Given the description of an element on the screen output the (x, y) to click on. 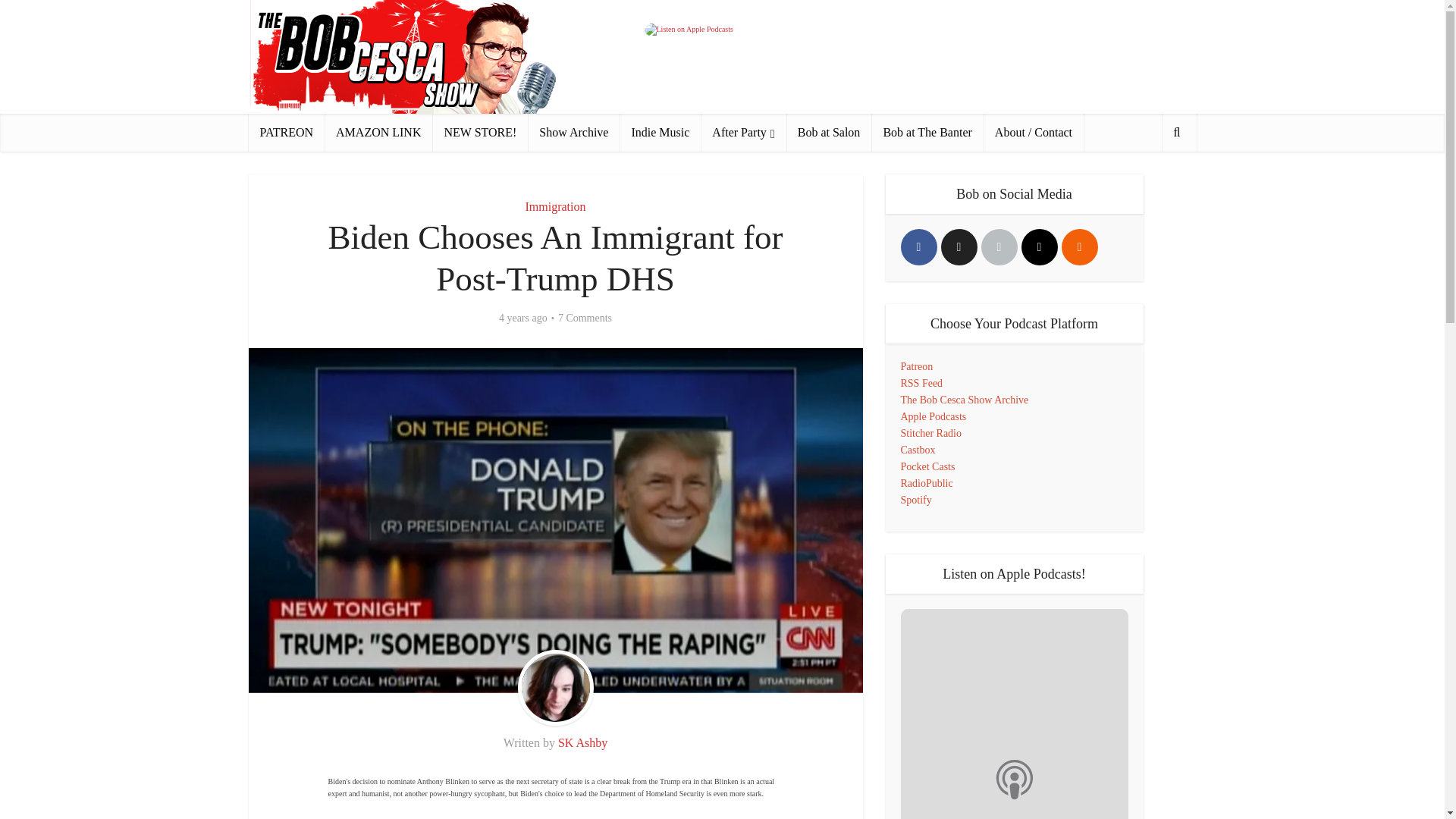
rss (1079, 247)
twitter (958, 247)
RSS (1079, 247)
NEW STORE! (479, 132)
RSS Feed (922, 383)
instagram (1038, 247)
Castbox (918, 449)
SK Ashby (582, 742)
The Bob Cesca Show Archive (965, 399)
Immigration (554, 205)
